Given the description of an element on the screen output the (x, y) to click on. 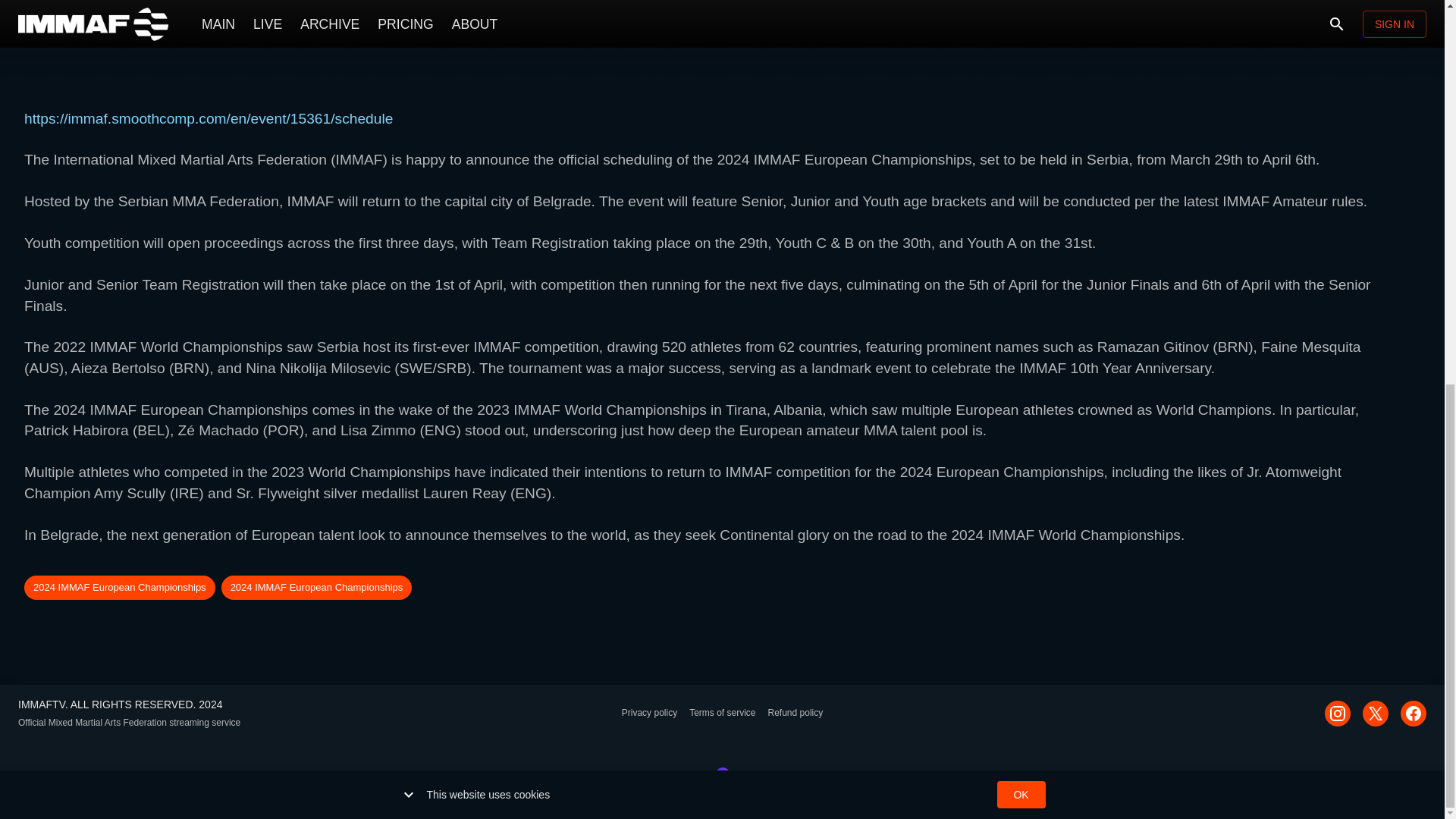
OK (1020, 71)
2024 IMMAF European Championships (119, 587)
Refund policy (794, 713)
Terms of service (721, 713)
Privacy policy (649, 713)
2024 IMMAF European Championships (316, 587)
